Given the description of an element on the screen output the (x, y) to click on. 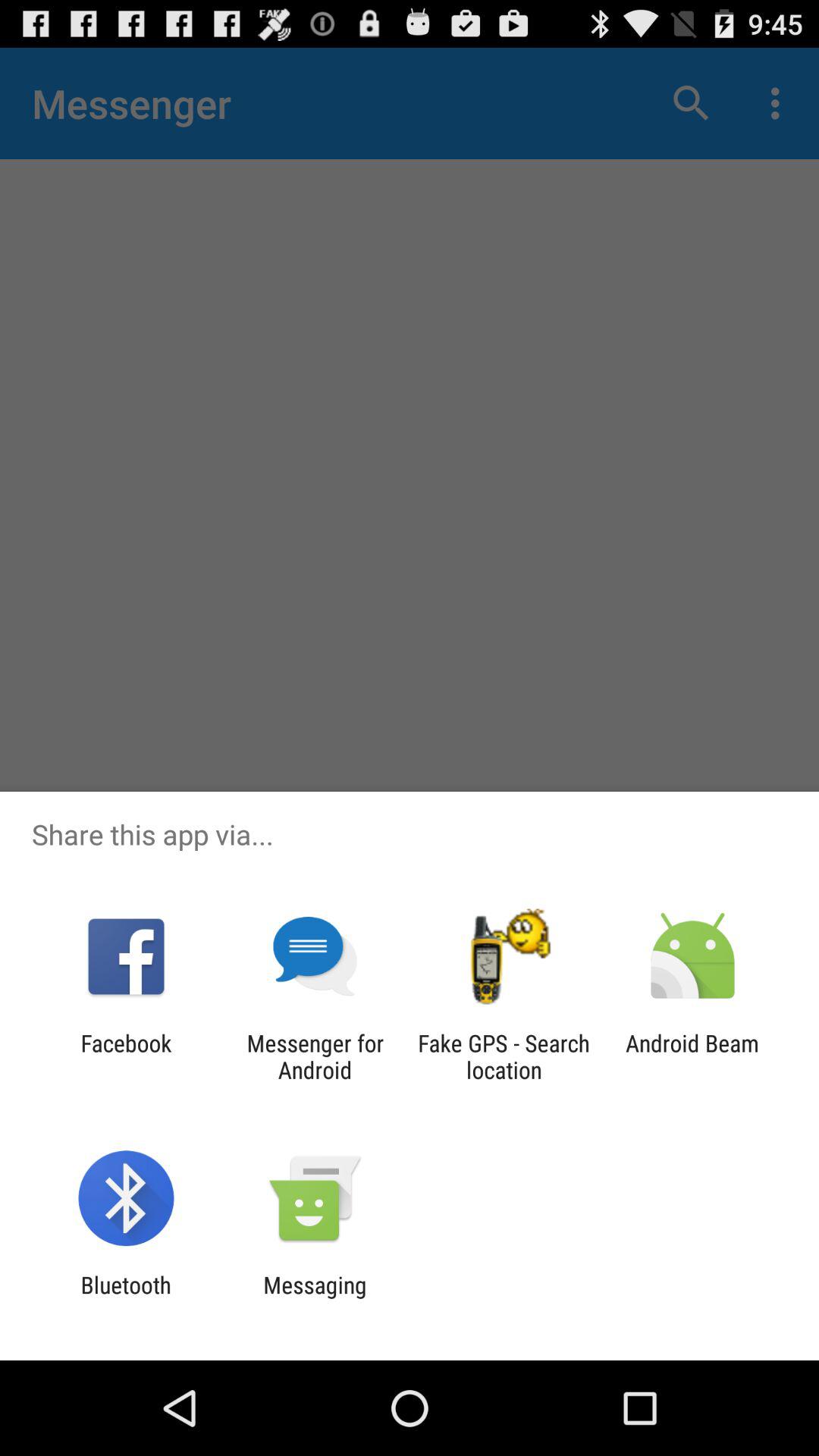
turn on app to the right of the fake gps search app (692, 1056)
